Given the description of an element on the screen output the (x, y) to click on. 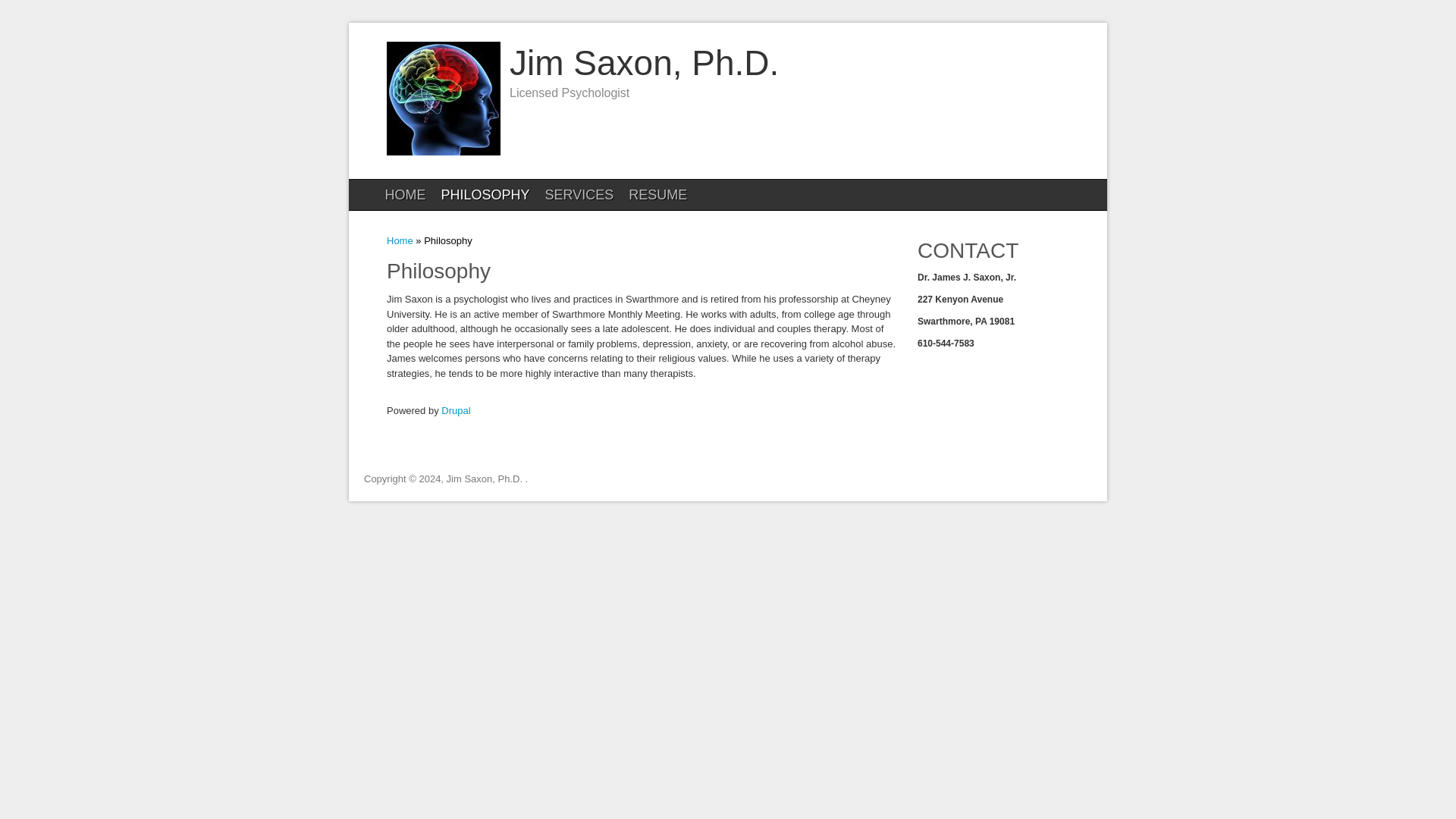
Therapeutic Services (579, 194)
Professional Philosophy (485, 194)
PHILOSOPHY (485, 194)
Home (400, 240)
HOME (405, 194)
professional and academic background (657, 194)
Home (443, 152)
Jim Saxon, Ph.D. (643, 62)
RESUME (657, 194)
Drupal (455, 410)
Home (643, 62)
SERVICES (579, 194)
